Given the description of an element on the screen output the (x, y) to click on. 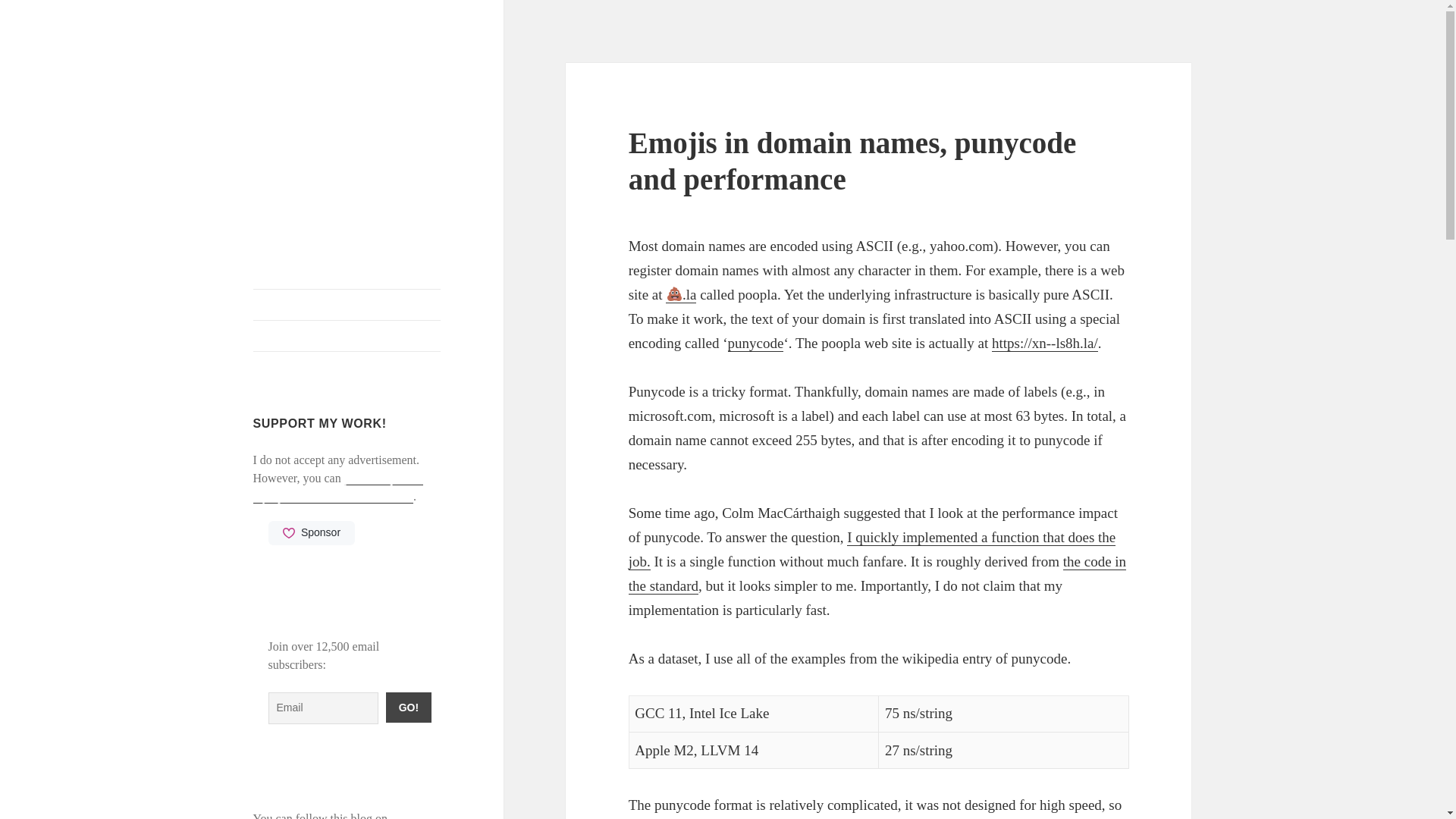
GitHub profile (347, 336)
you can sponsor my open-source work on GitHub (338, 487)
Sponsor lemire (311, 532)
My home page (347, 304)
Daniel Lemire's blog (328, 86)
Go! (407, 707)
telegram (411, 815)
Go! (407, 707)
